Given the description of an element on the screen output the (x, y) to click on. 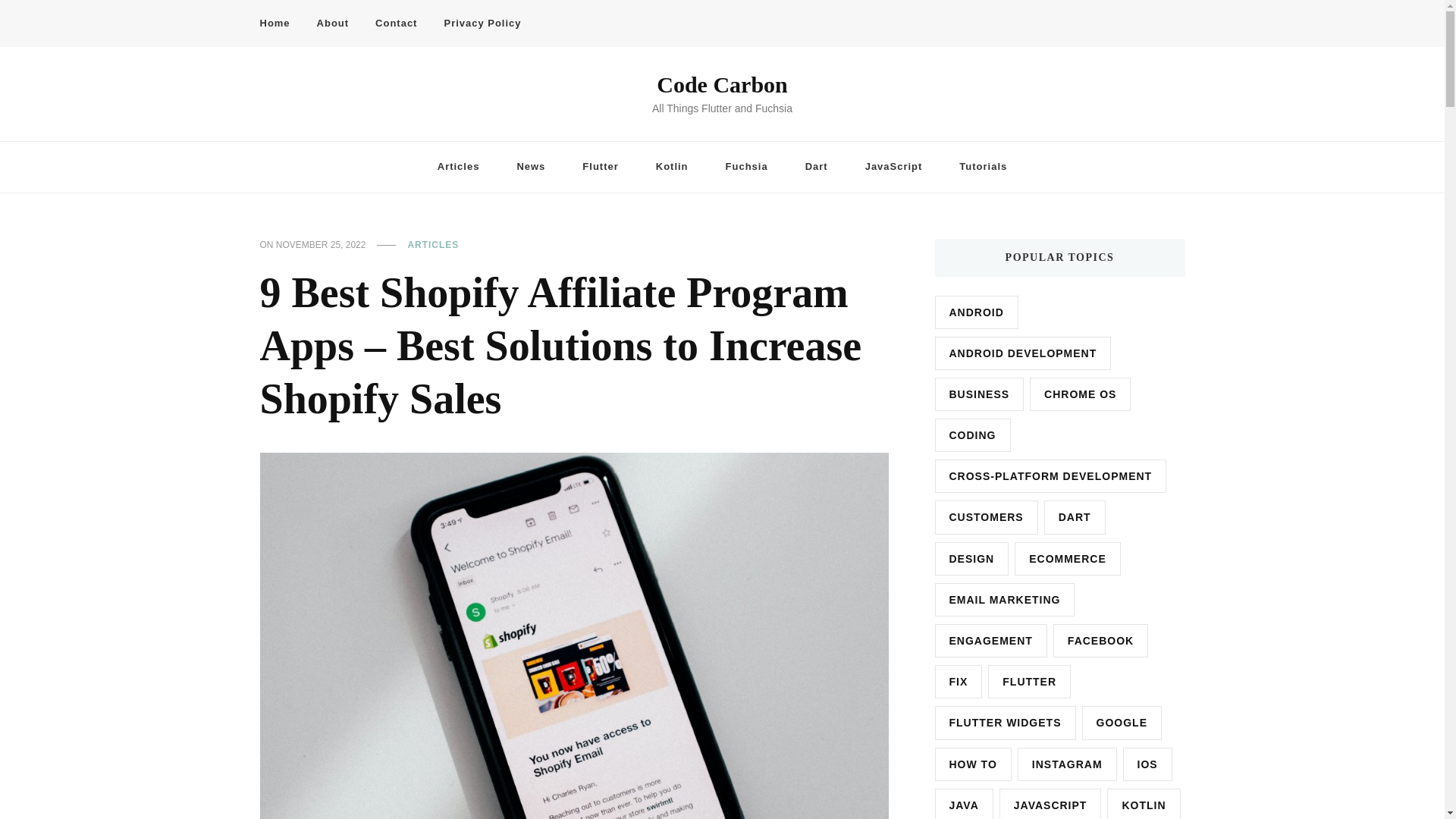
News (530, 166)
Home (280, 23)
Flutter (600, 166)
Privacy Policy (482, 23)
Tutorials (982, 166)
Fuchsia (746, 166)
Code Carbon (721, 84)
Search (1148, 27)
Dart (816, 166)
ARTICLES (432, 245)
